Given the description of an element on the screen output the (x, y) to click on. 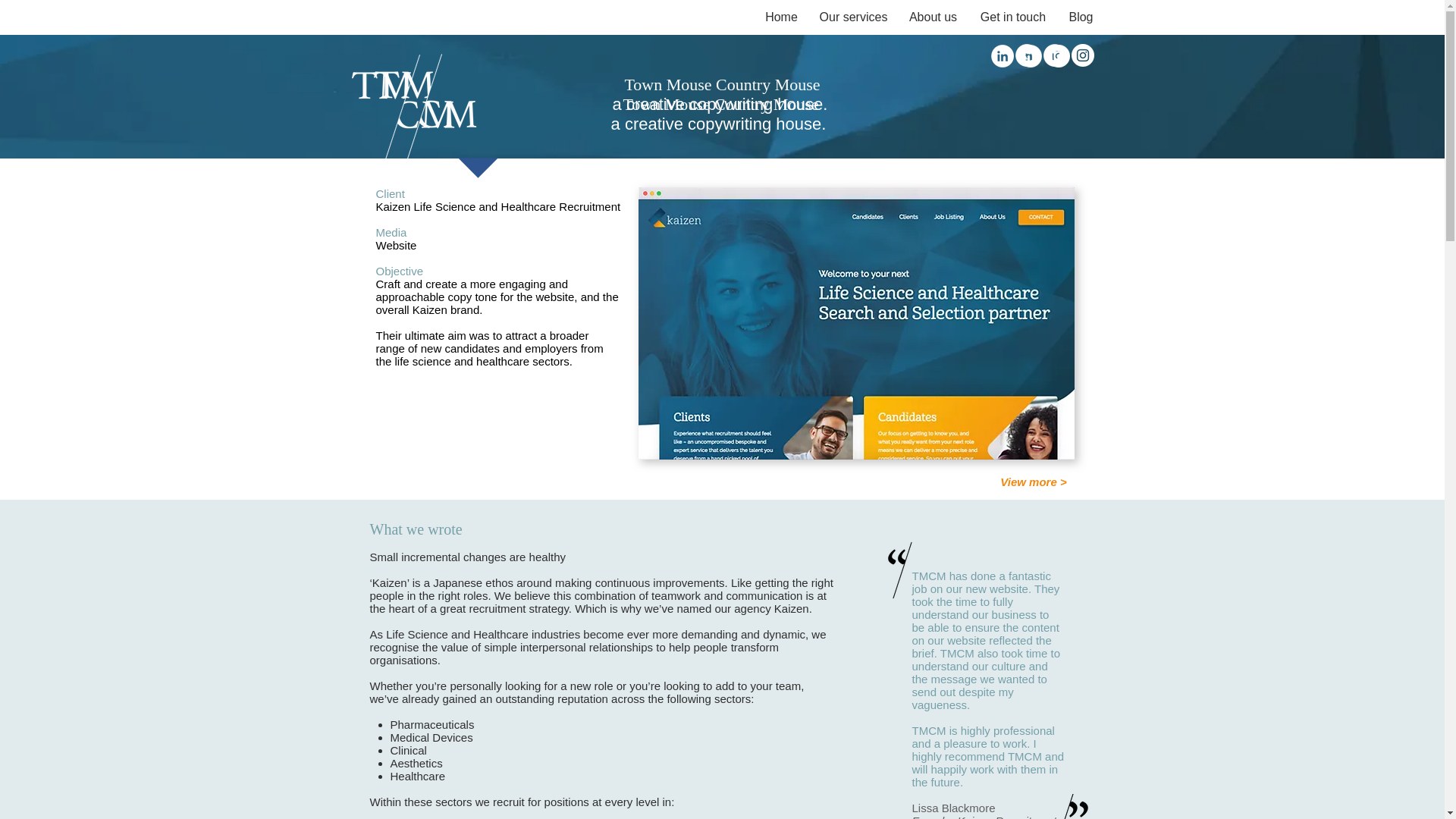
Our services (853, 17)
Get in touch (1013, 17)
Home (781, 17)
speech marks2.png (1068, 806)
About us (933, 17)
Blog (1080, 17)
TMCM Home Page (408, 106)
